Given the description of an element on the screen output the (x, y) to click on. 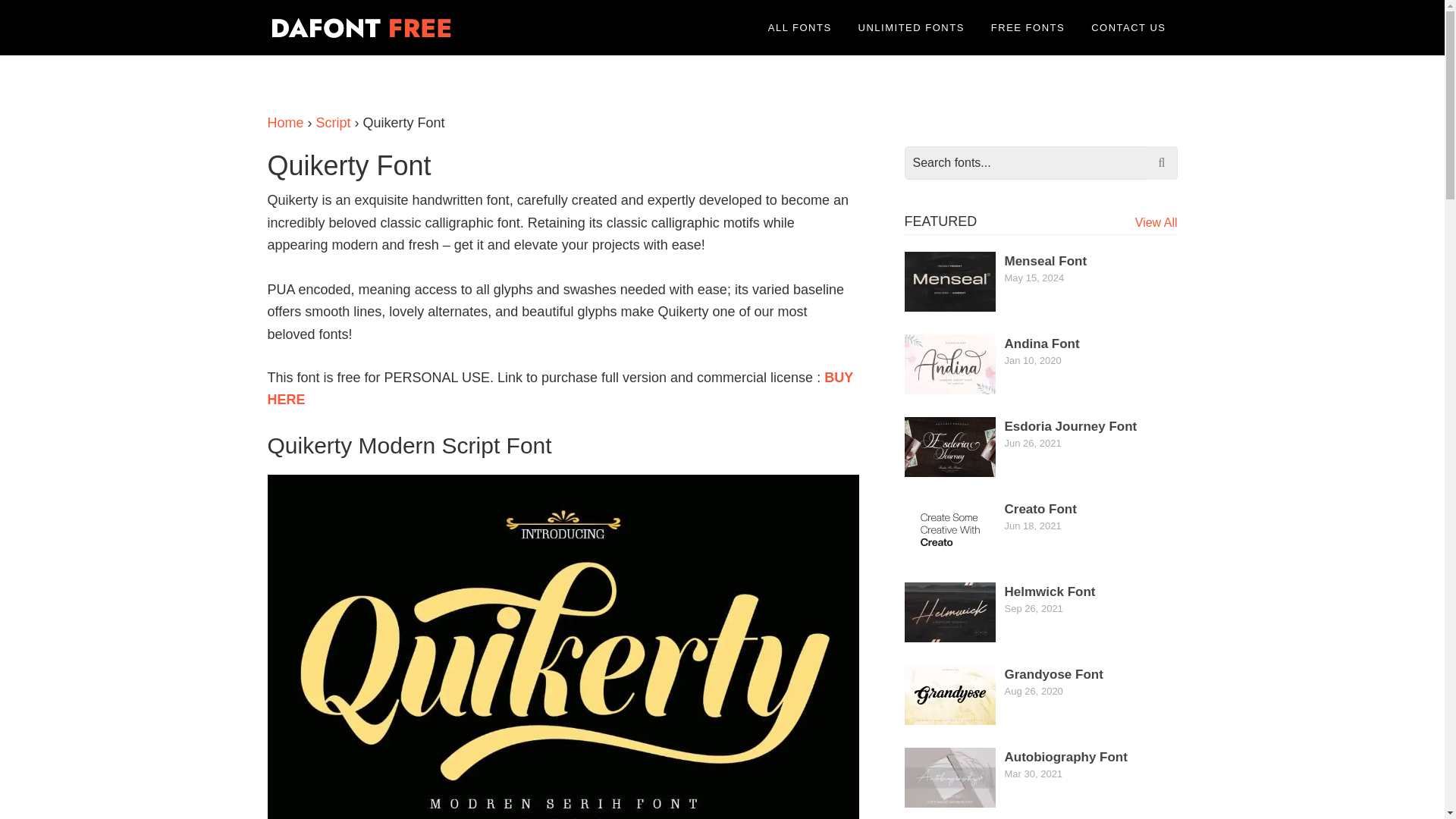
Home (284, 122)
Script (332, 122)
UNLIMITED FONTS (911, 27)
ALL FONTS (800, 27)
FREE FONTS (1027, 27)
View All (1156, 222)
BUY HERE (558, 388)
CONTACT US (1128, 27)
